Given the description of an element on the screen output the (x, y) to click on. 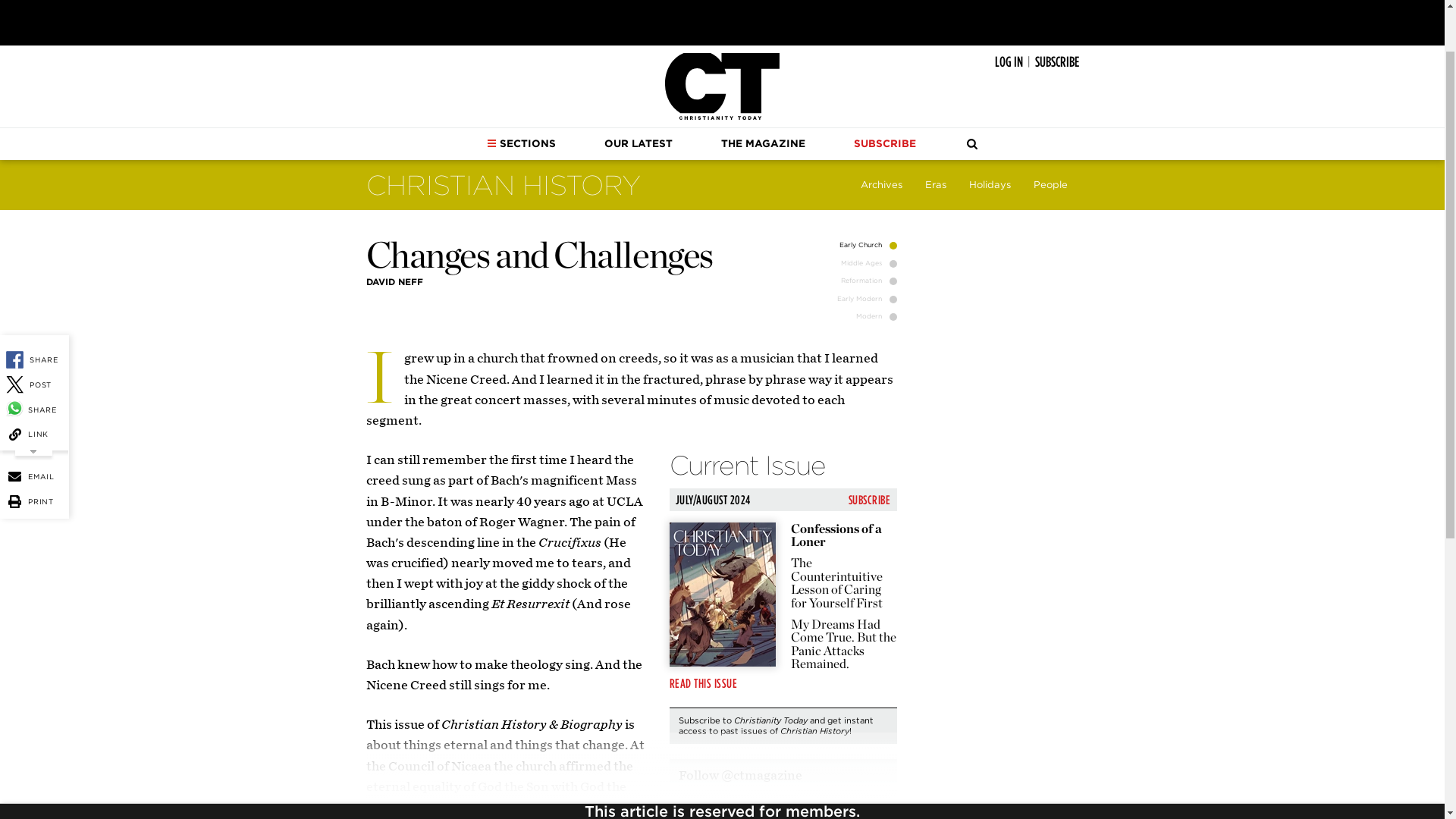
SECTIONS (521, 143)
SUBSCRIBE (1055, 62)
Sections Dropdown (491, 143)
LOG IN (1008, 62)
3rd party ad content (721, 18)
Christianity Today (721, 86)
